Given the description of an element on the screen output the (x, y) to click on. 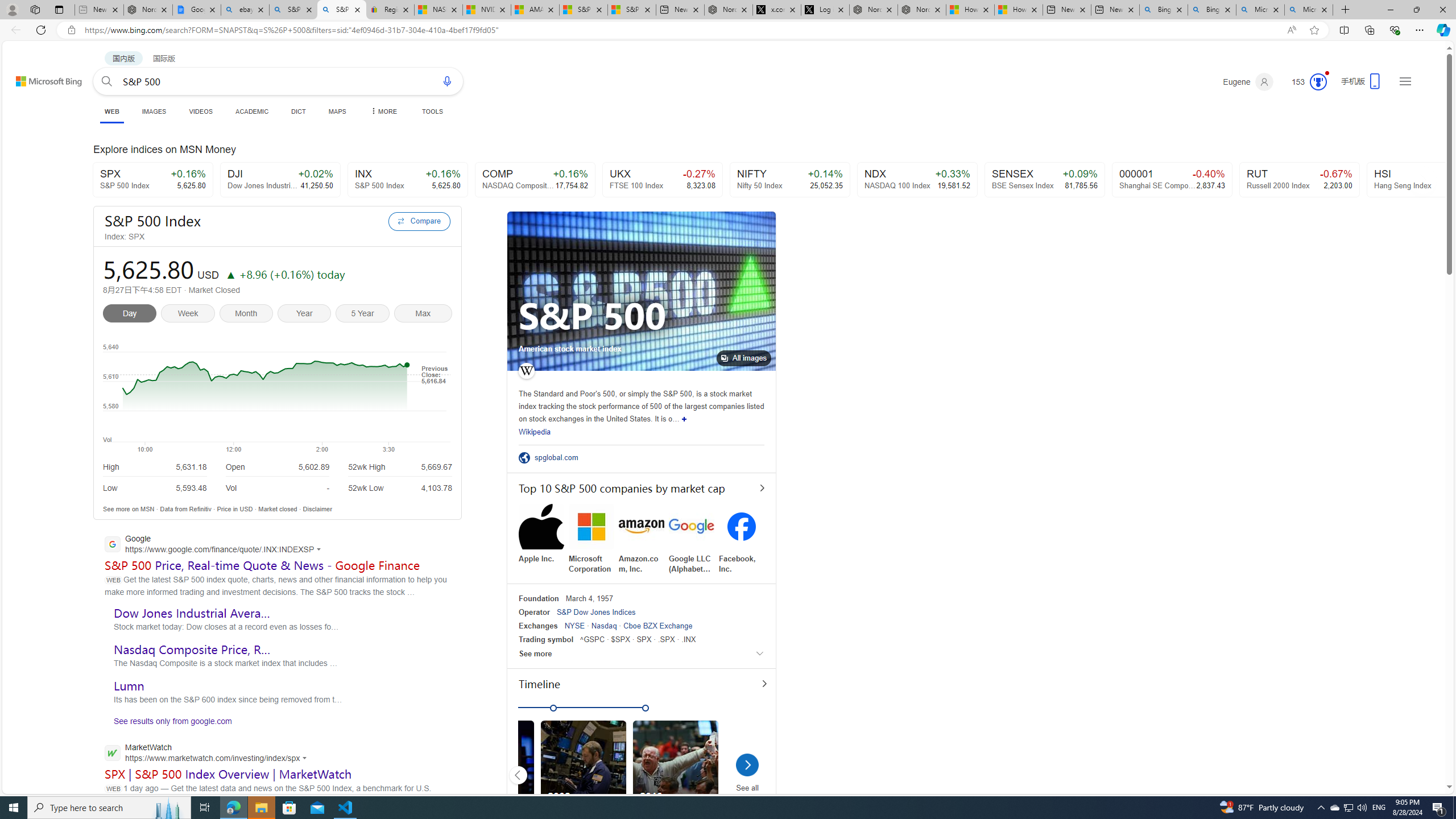
RUT-0.67%Russell 2000 Index2,203.00 (1299, 179)
Bing AI - Search (1211, 9)
NDX +0.33% NASDAQ 100 Index 19,581.52 (916, 179)
S&P 500 Price, Real-time Quote & News - Google Finance (262, 564)
Foundation (538, 598)
New tab - Sleeping (98, 9)
Register: Create a personal eBay account (390, 9)
Search button (106, 80)
000001 -0.40% Shanghai SE Composite Index 2,837.43 (1171, 179)
Google Docs: Online Document Editor | Google Workspace (196, 9)
